Given the description of an element on the screen output the (x, y) to click on. 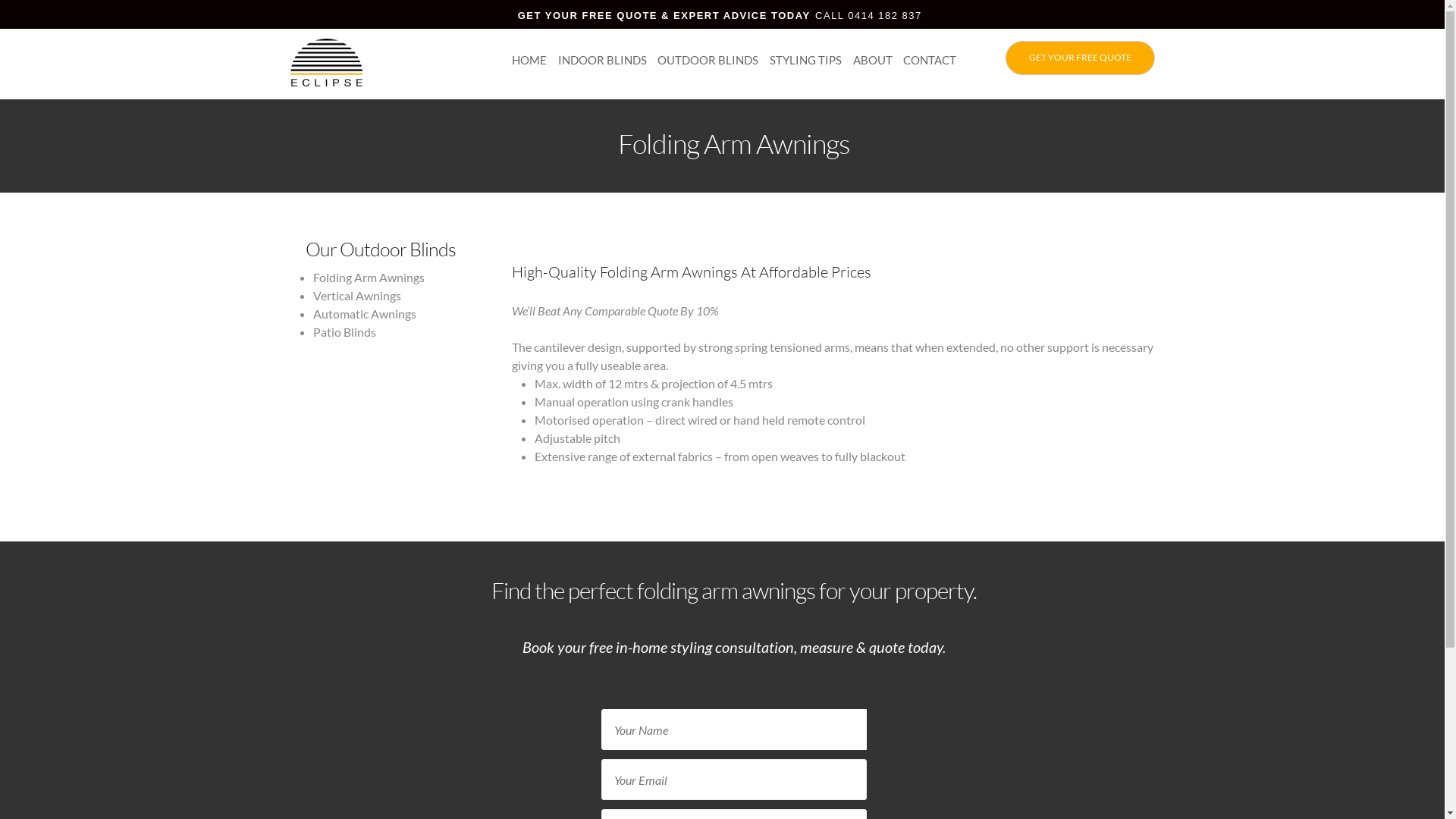
Patio Blinds Element type: text (343, 331)
ABOUT Element type: text (872, 59)
HOME Element type: text (528, 59)
CONTACT Element type: text (929, 59)
Vertical Awnings Element type: text (356, 295)
OUTDOOR BLINDS Element type: text (707, 59)
Folding Arm Awnings Element type: text (367, 276)
GET YOUR FREE QUOTE Element type: text (1079, 57)
Automatic Awnings Element type: text (363, 313)
CALL 0414 182 837 Element type: text (868, 15)
STYLING TIPS Element type: text (805, 59)
INDOOR BLINDS Element type: text (602, 59)
